Given the description of an element on the screen output the (x, y) to click on. 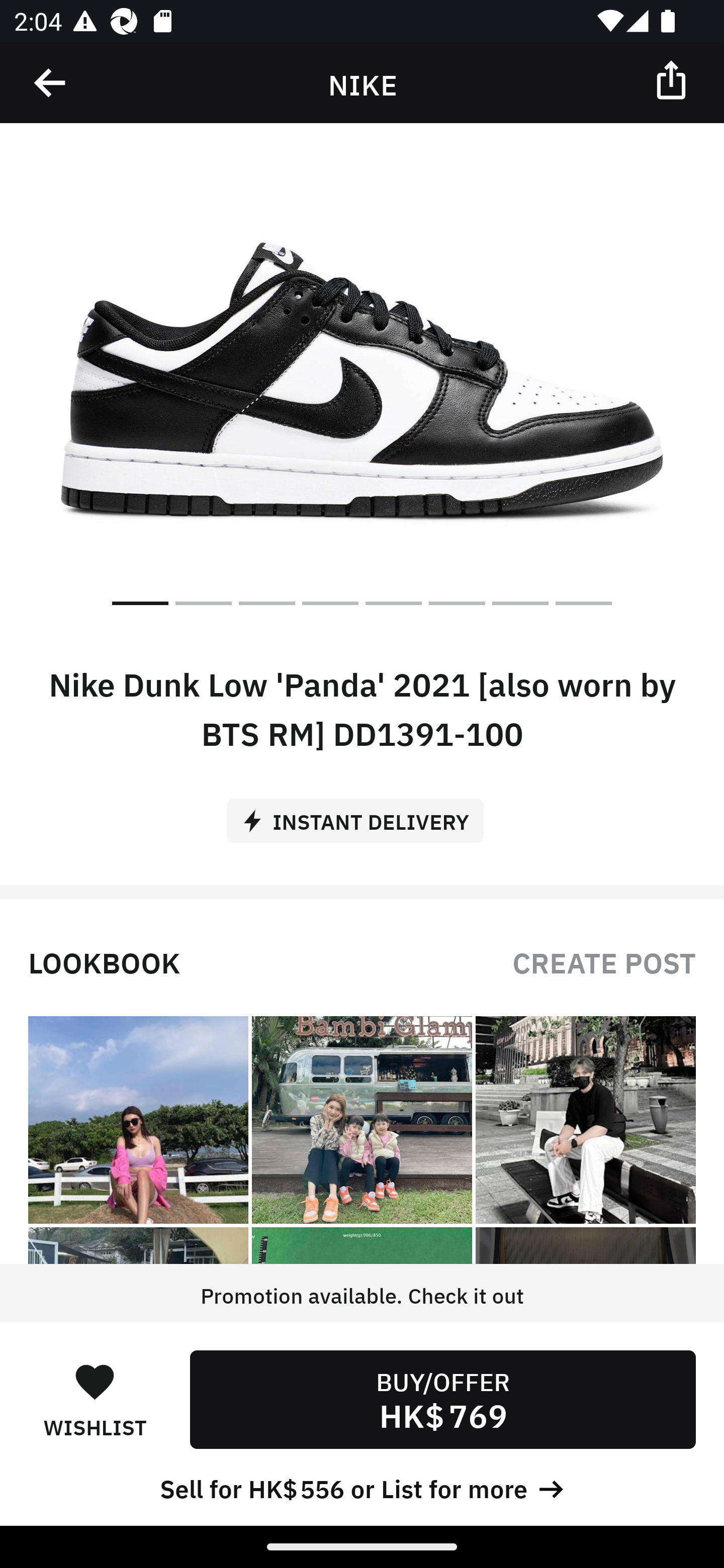
 (50, 83)
 (672, 79)
 INSTANT DELIVERY (362, 813)
CREATE POST (603, 960)
BUY/OFFER HK$ 769 (442, 1399)
󰋑 (94, 1380)
Sell for HK$ 556 or List for more (361, 1486)
